Given the description of an element on the screen output the (x, y) to click on. 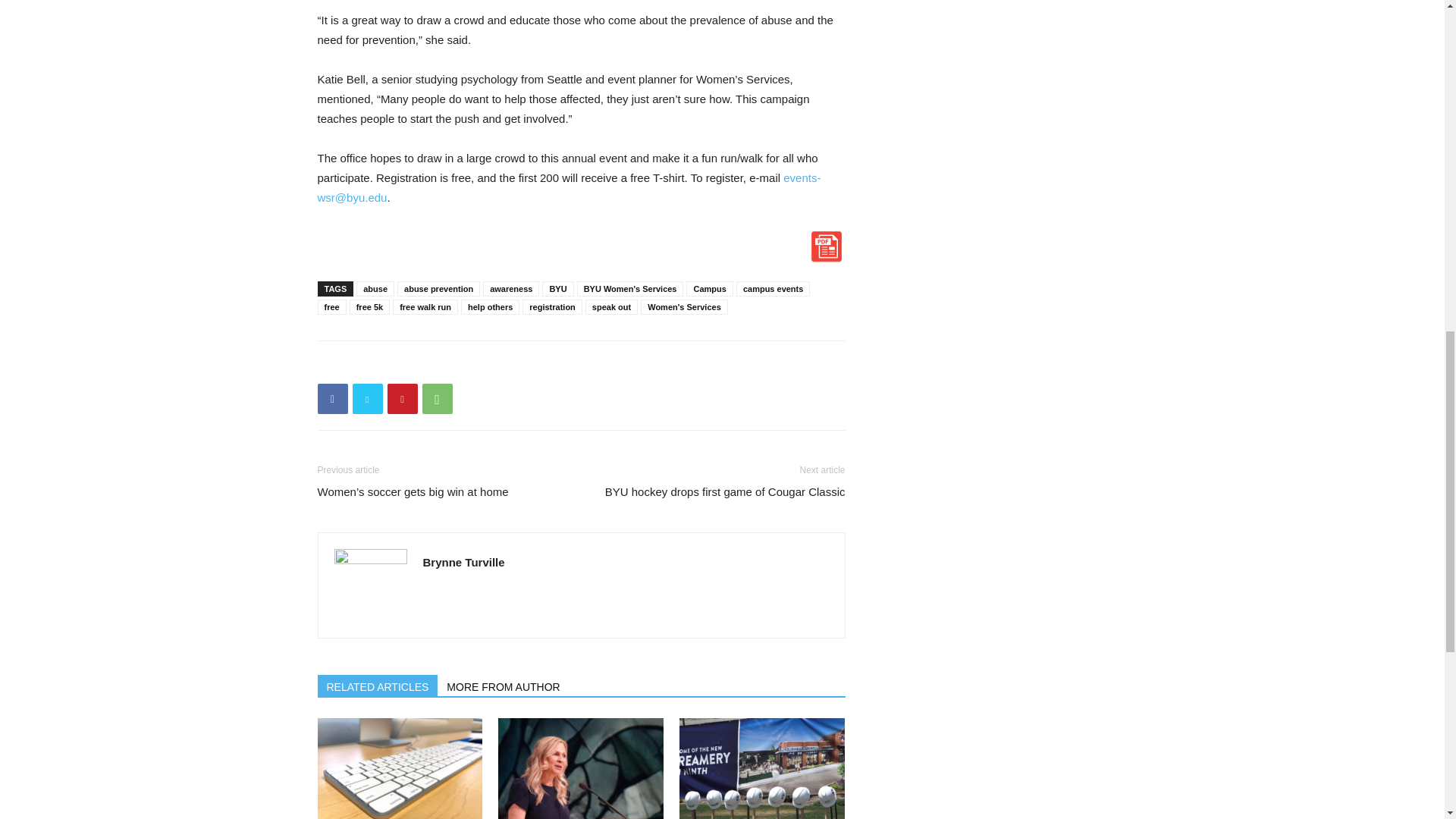
How to protect your personal information (399, 768)
Facebook (332, 399)
Pinterest (401, 399)
WhatsApp (436, 399)
Twitter (366, 399)
